Given the description of an element on the screen output the (x, y) to click on. 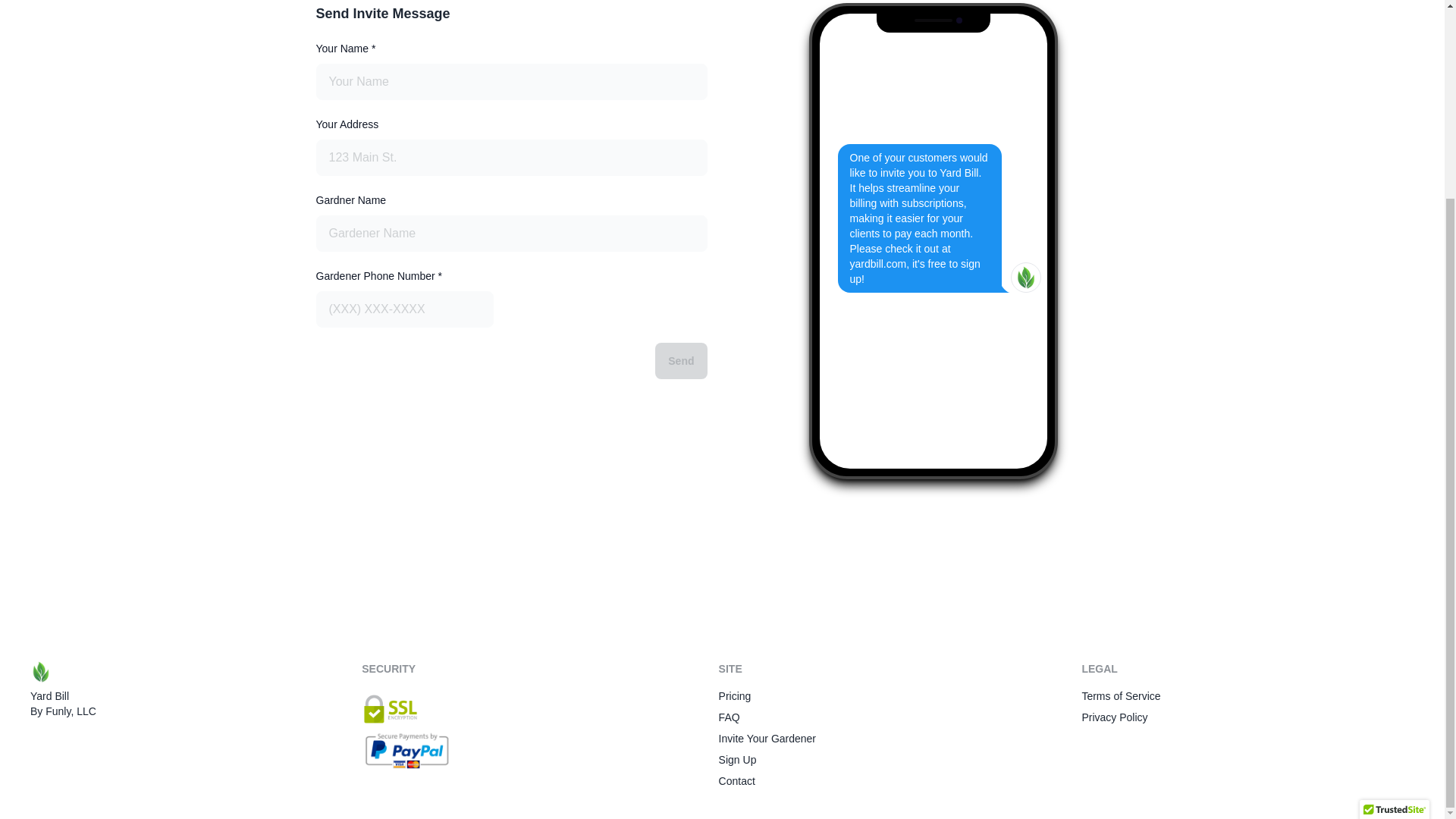
TrustedSite Certified (1394, 562)
Contact (737, 780)
FAQ (729, 717)
Terms of Service (1120, 695)
Invite Your Gardener (767, 738)
Pricing (735, 695)
Sign Up (738, 759)
Privacy Policy (1114, 717)
